Given the description of an element on the screen output the (x, y) to click on. 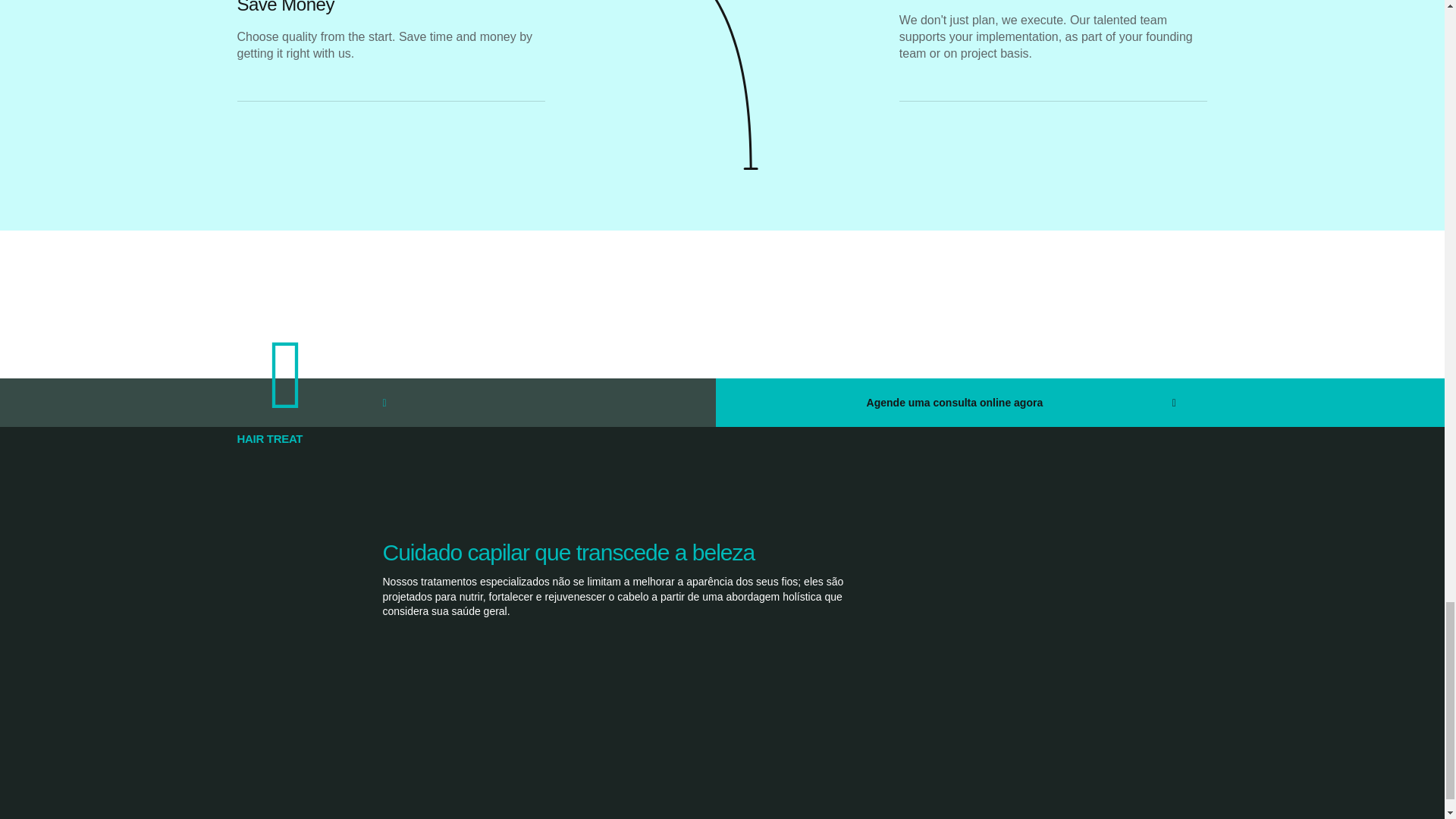
HAIR TREAT (268, 438)
Agende uma consulta online agora (963, 402)
